Given the description of an element on the screen output the (x, y) to click on. 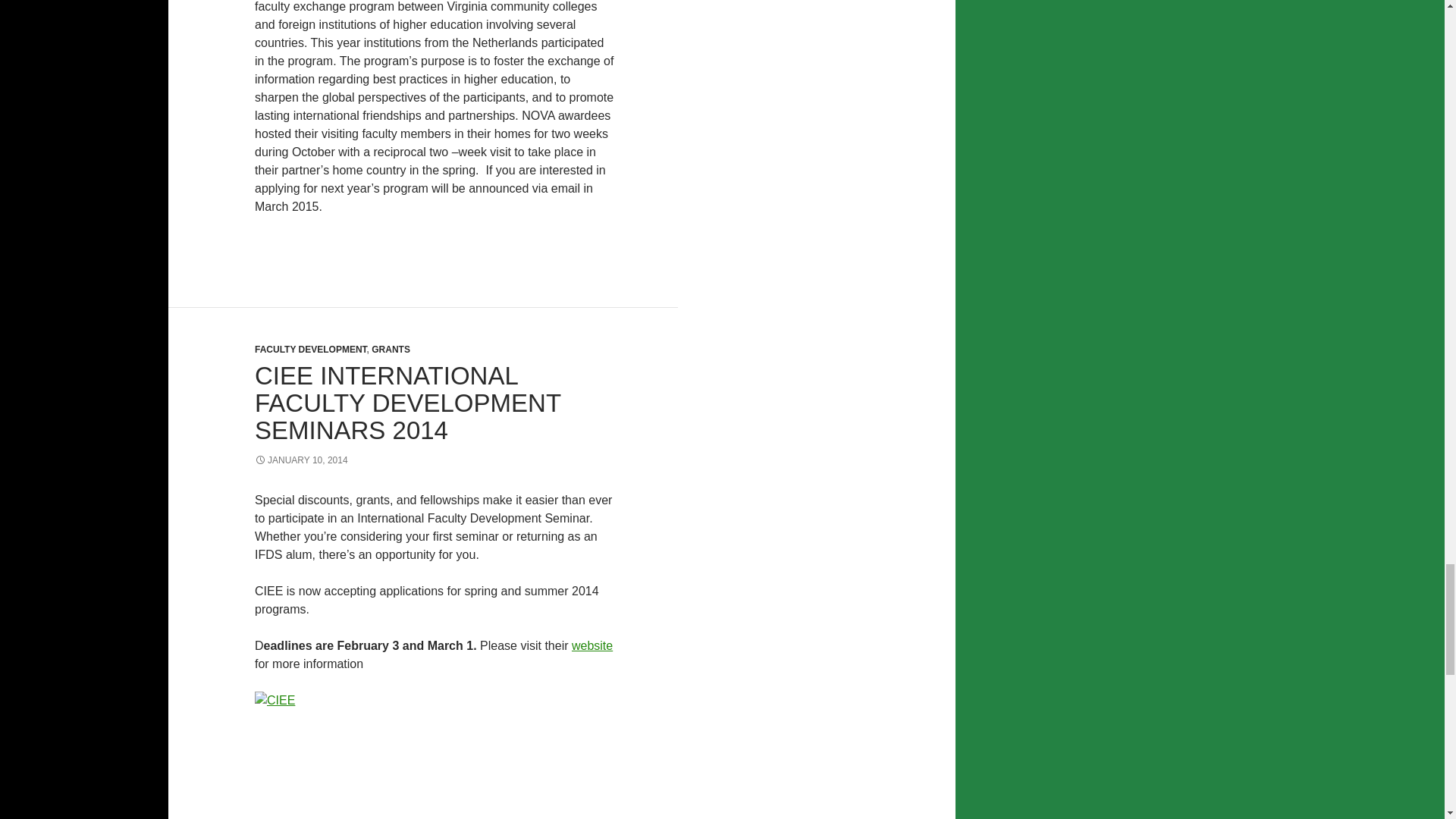
CIEE INTERNATIONAL FACULTY DEVELOPMENT SEMINARS 2014 (407, 402)
GRANTS (390, 348)
website (592, 645)
FACULTY DEVELOPMENT (310, 348)
JANUARY 10, 2014 (300, 460)
